Given the description of an element on the screen output the (x, y) to click on. 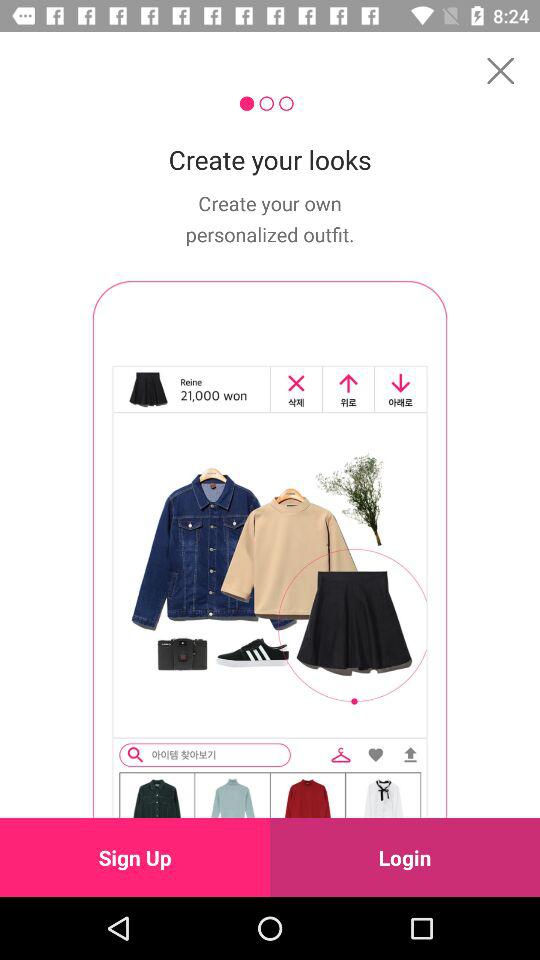
turn off the icon above the create your looks icon (500, 70)
